Given the description of an element on the screen output the (x, y) to click on. 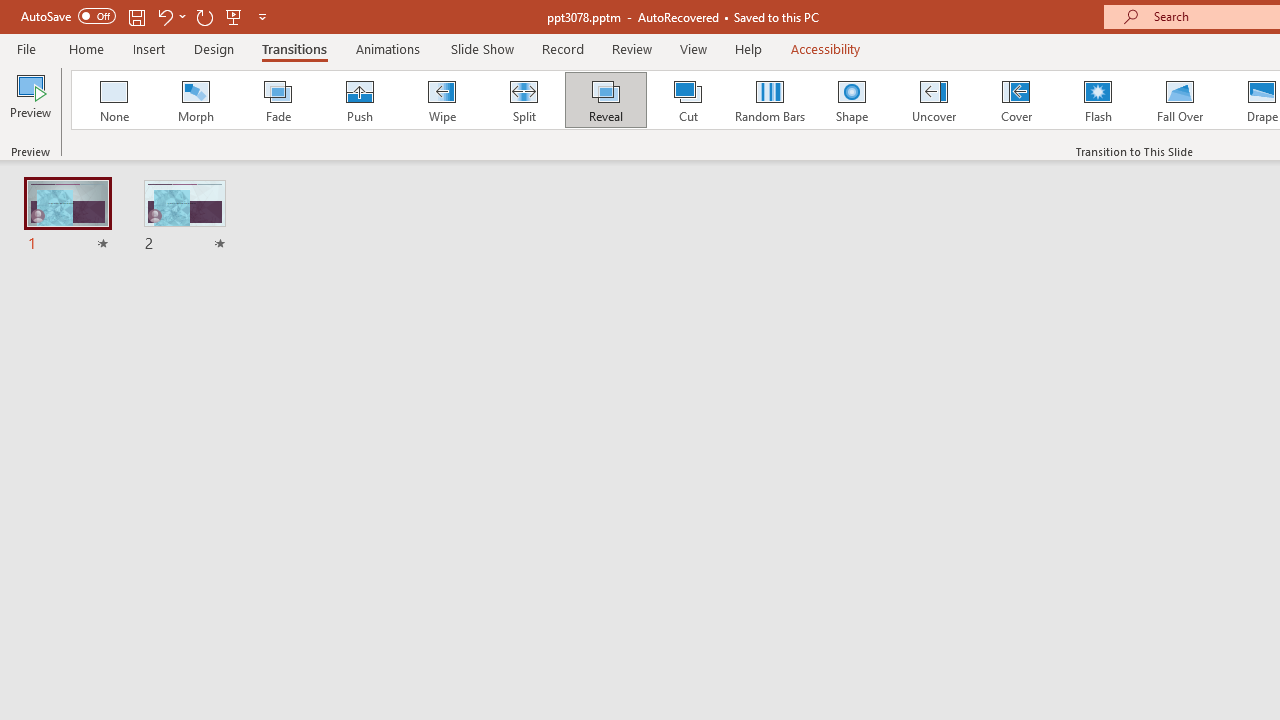
Fall Over (1180, 100)
